Given the description of an element on the screen output the (x, y) to click on. 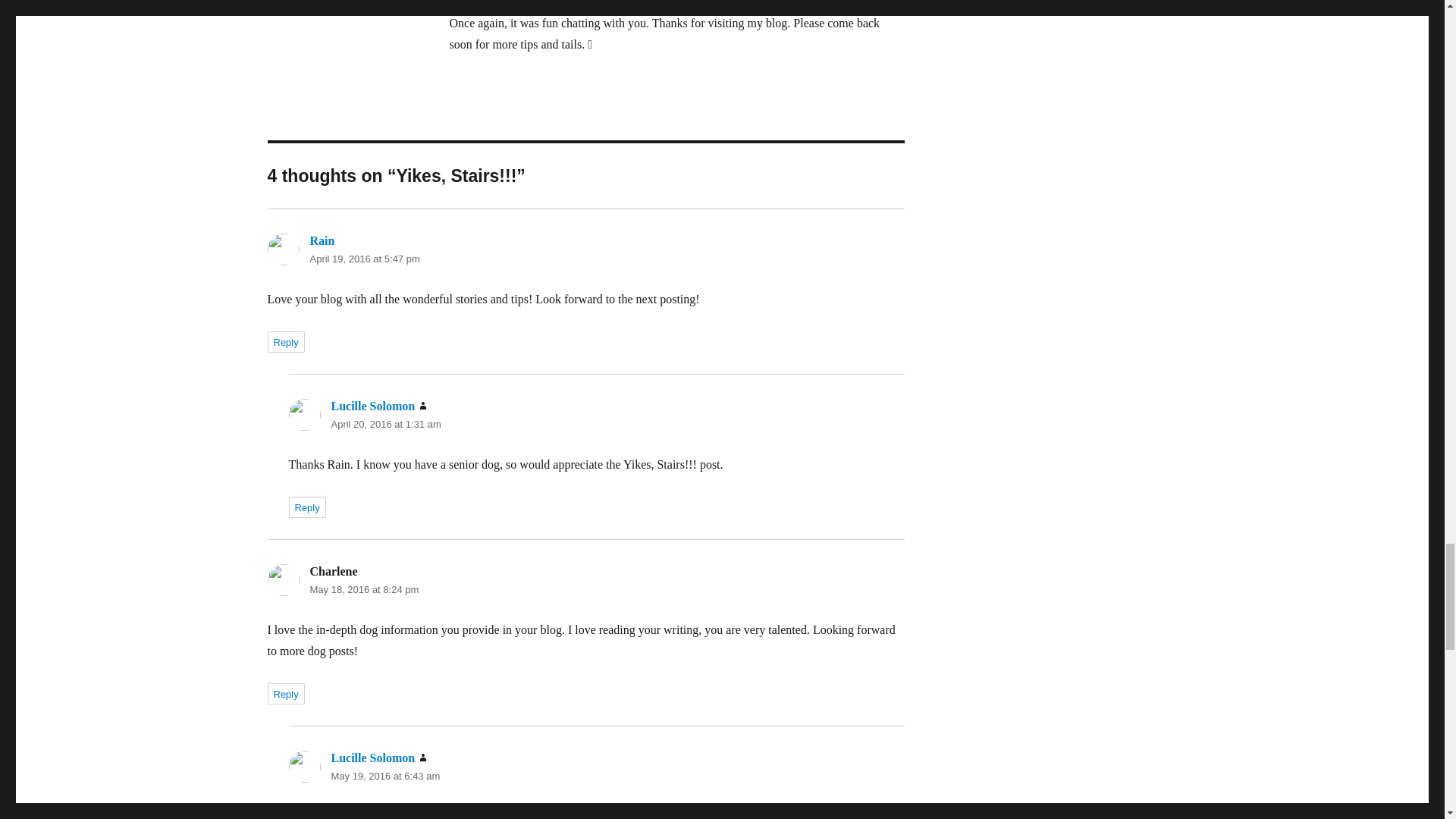
Reply (285, 693)
Rain (321, 240)
April 19, 2016 at 5:47 pm (363, 258)
May 19, 2016 at 6:43 am (384, 776)
Reply (285, 341)
Reply (306, 506)
April 20, 2016 at 1:31 am (385, 423)
May 18, 2016 at 8:24 pm (363, 589)
Lucille Solomon (372, 405)
Lucille Solomon (372, 757)
